Given the description of an element on the screen output the (x, y) to click on. 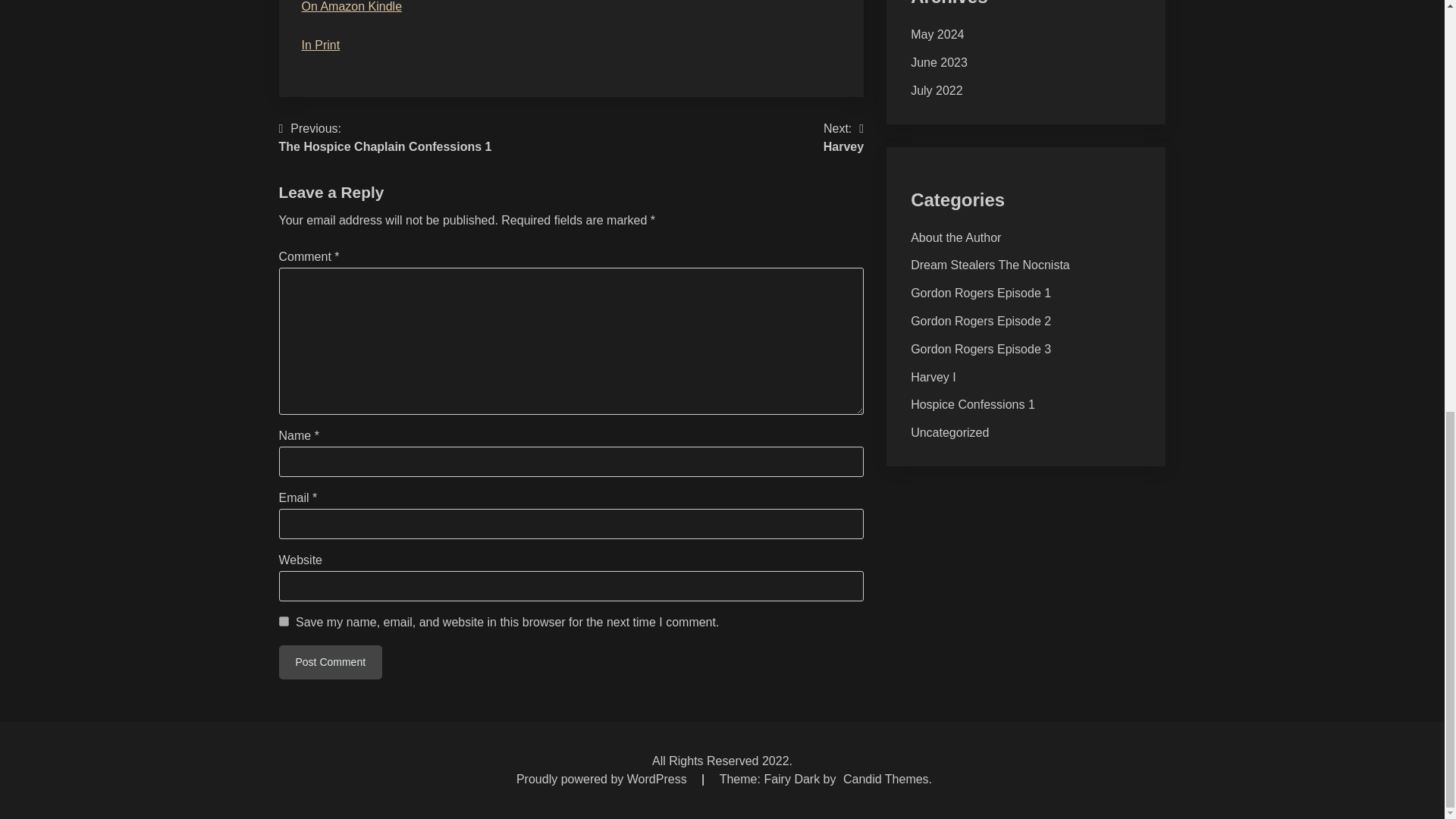
yes (283, 621)
Post Comment (330, 662)
